Given the description of an element on the screen output the (x, y) to click on. 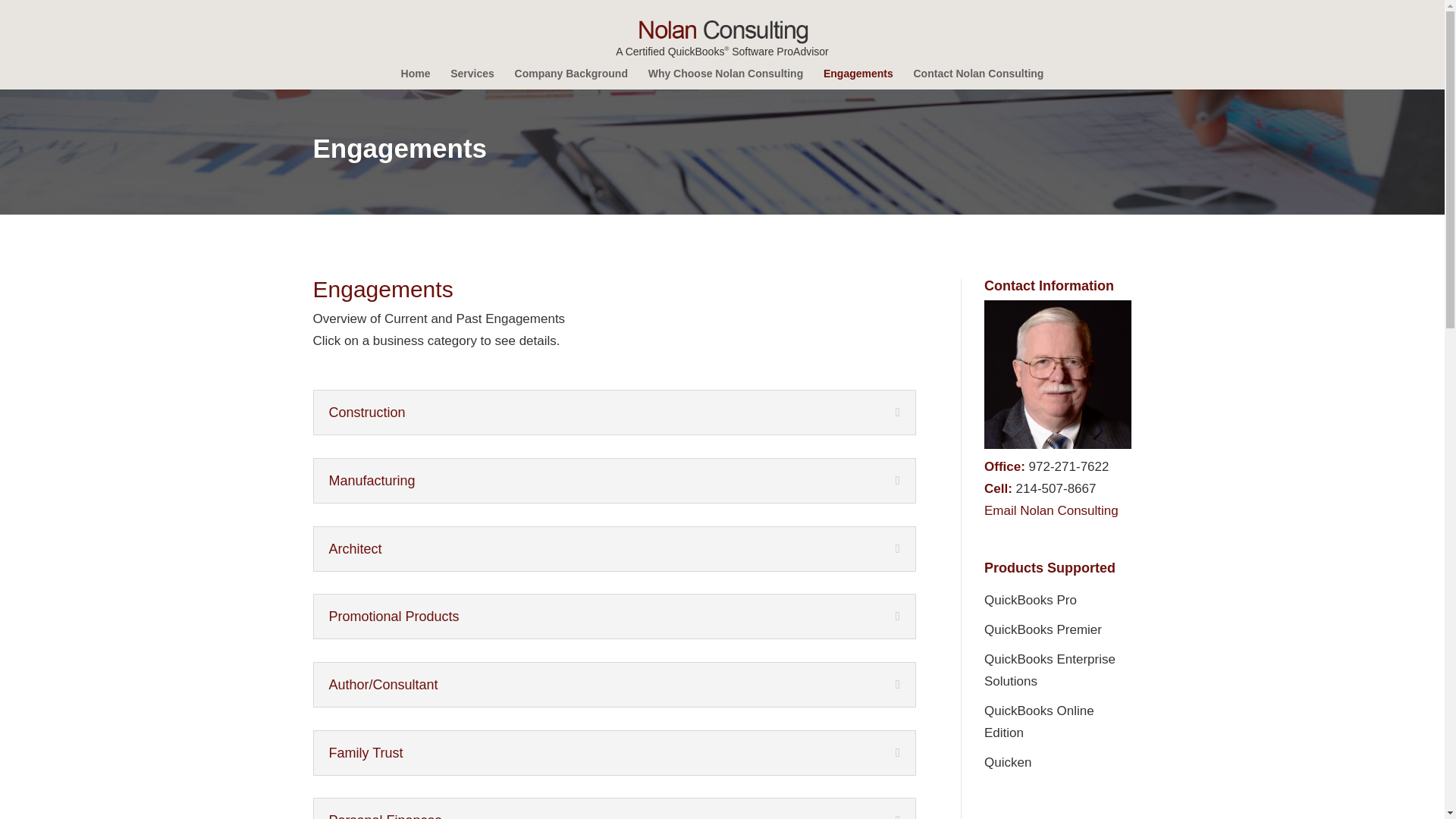
Engagements (858, 78)
Email Nolan Consulting (1051, 510)
Why Choose Nolan Consulting (725, 78)
Contact Nolan Consulting (977, 78)
Home (415, 78)
Company Background (571, 78)
Services (472, 78)
